Given the description of an element on the screen output the (x, y) to click on. 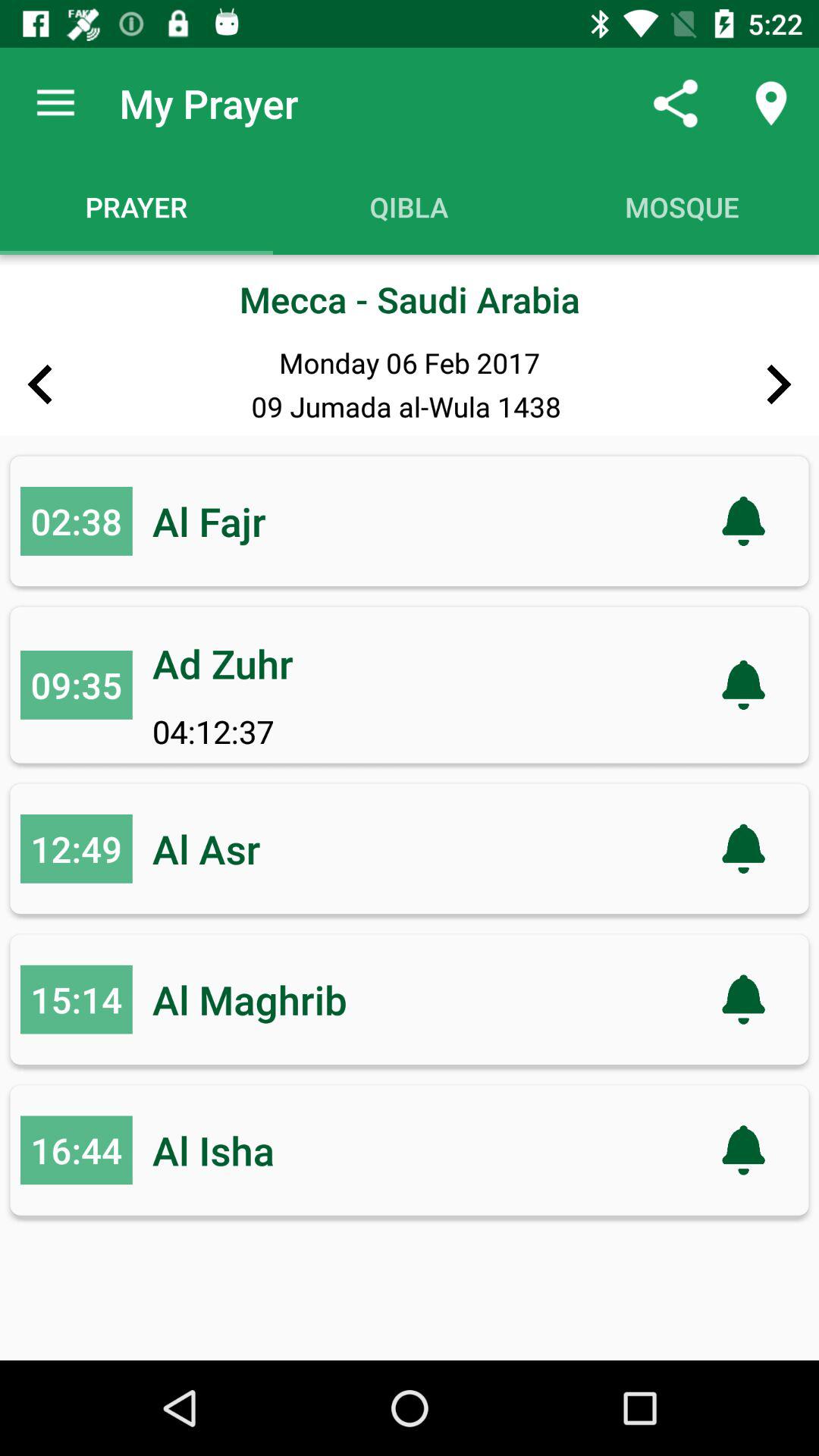
open item to the left of al maghrib item (76, 999)
